Given the description of an element on the screen output the (x, y) to click on. 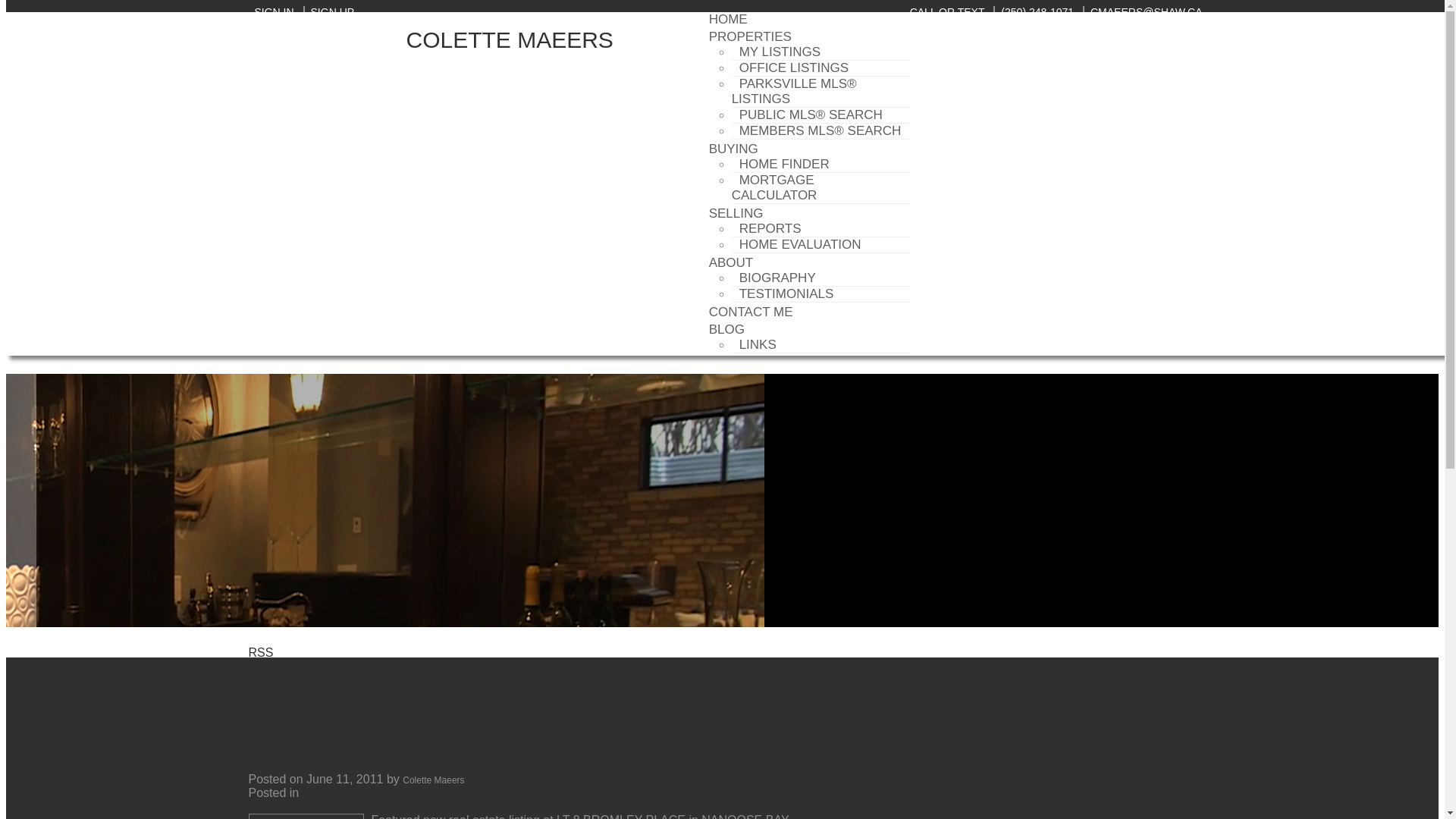
MY LISTINGS (780, 51)
BUYING (733, 148)
SIGN UP (328, 11)
HOME FINDER (784, 163)
SELLING (736, 213)
OFFICE LISTINGS (794, 67)
TESTIMONIALS (786, 293)
ABOUT (731, 262)
CONTACT ME (750, 311)
LINKS (758, 344)
REPORTS (770, 228)
PROPERTIES (750, 36)
RSS (260, 652)
HOME EVALUATION (800, 244)
HOME (728, 24)
